Given the description of an element on the screen output the (x, y) to click on. 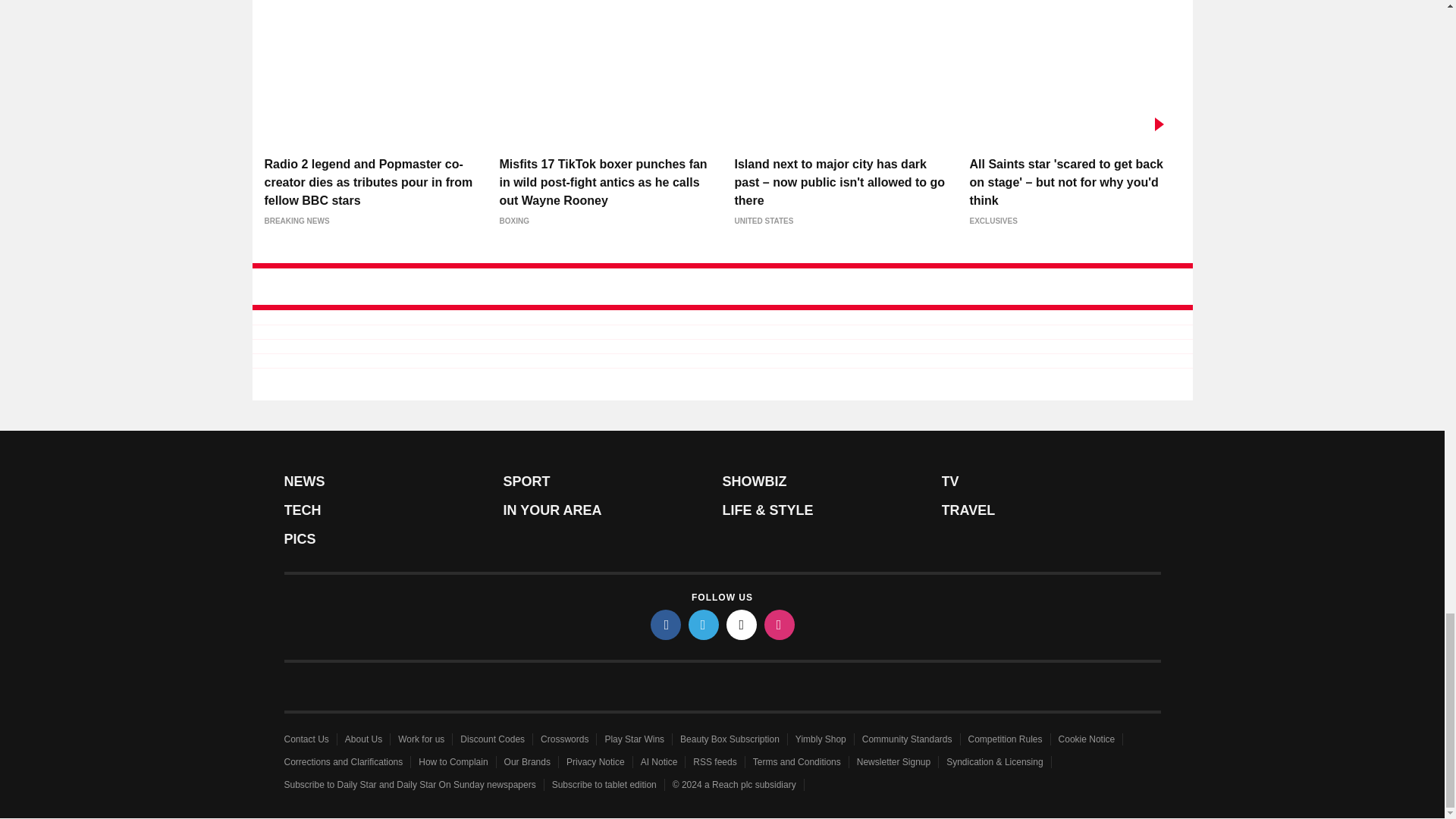
facebook (665, 624)
instagram (779, 624)
tiktok (741, 624)
twitter (703, 624)
